Given the description of an element on the screen output the (x, y) to click on. 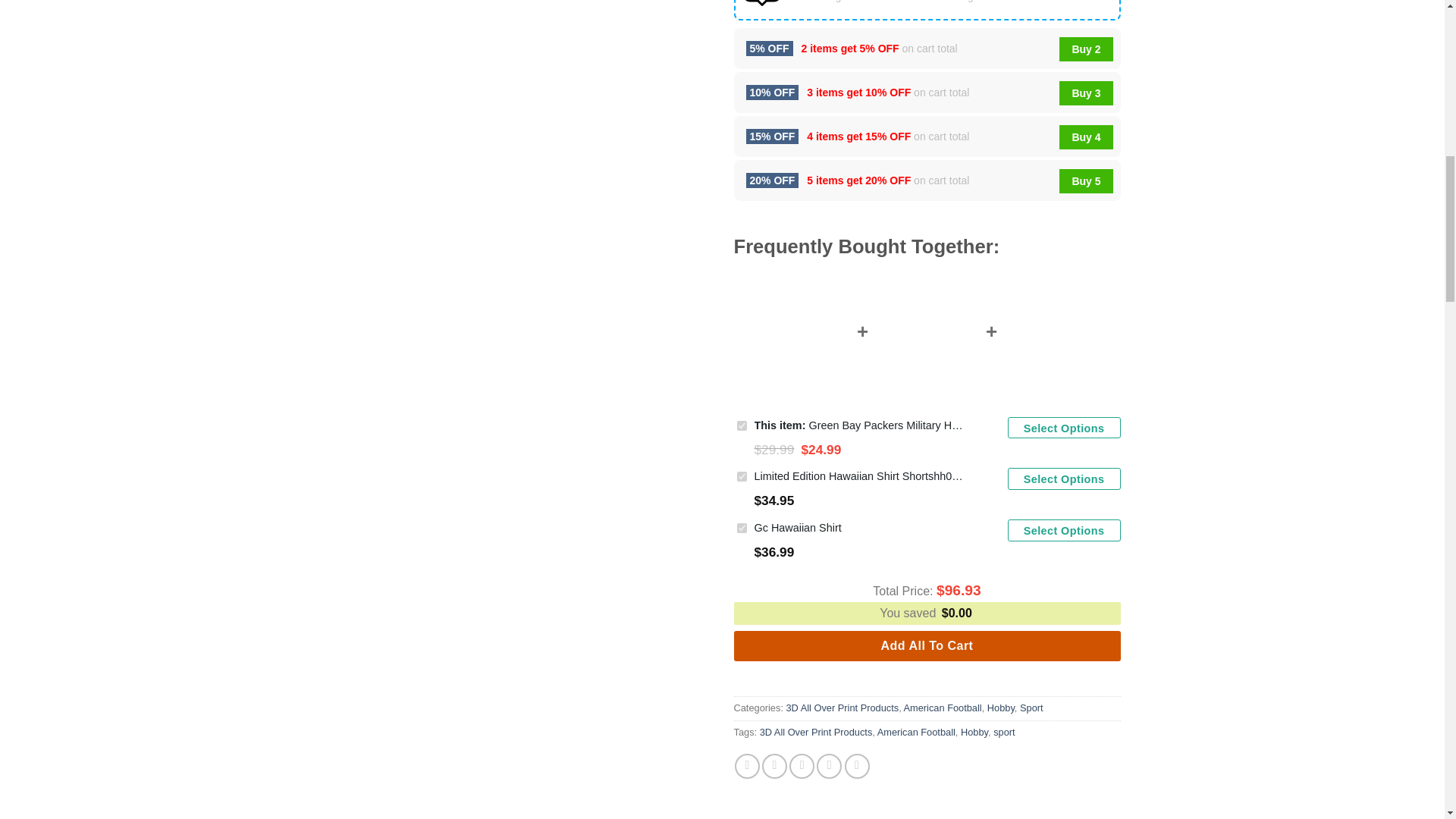
7107 (741, 476)
13116 (741, 425)
7087 (741, 528)
